Given the description of an element on the screen output the (x, y) to click on. 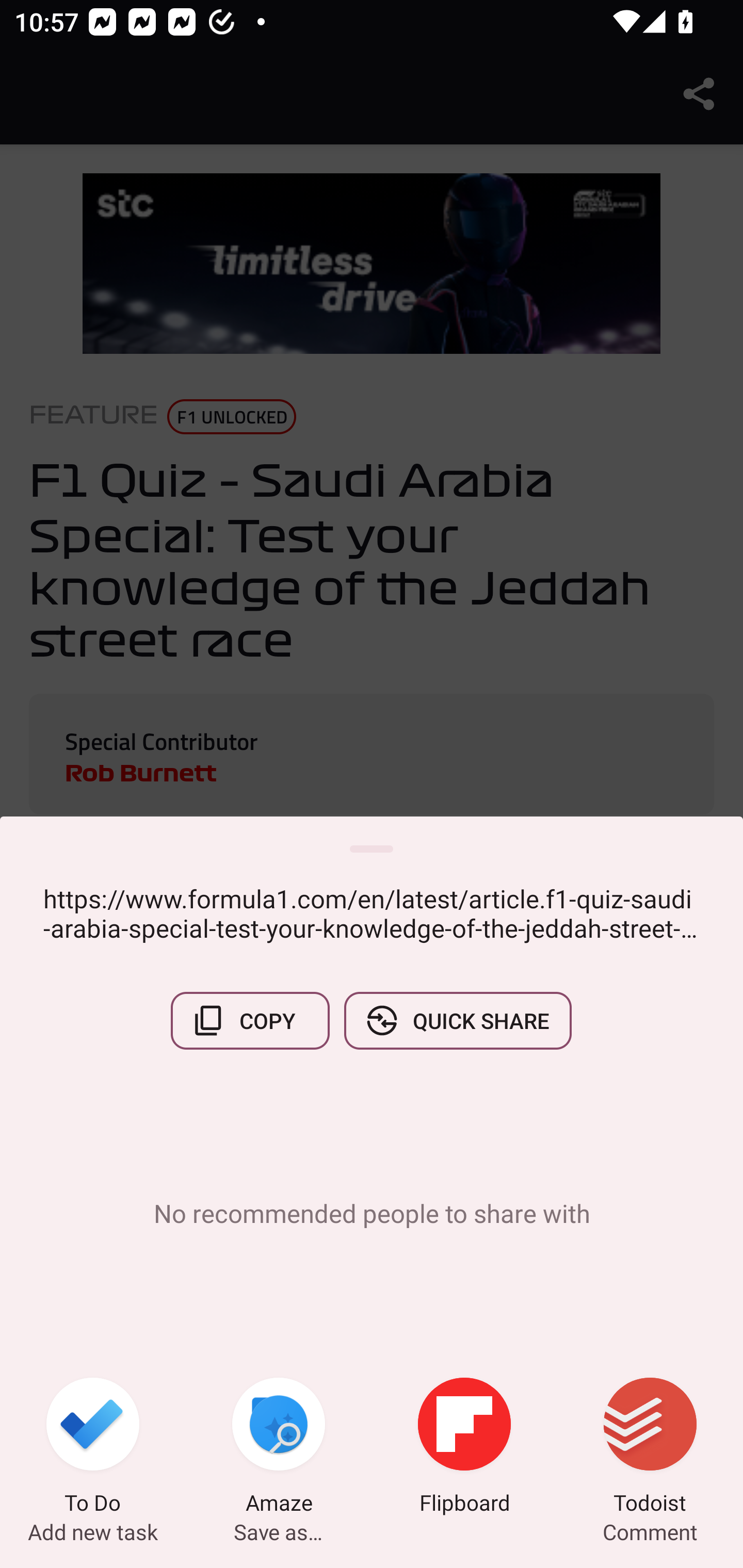
COPY (249, 1020)
QUICK SHARE (457, 1020)
To Do Add new task (92, 1448)
Amaze Save as… (278, 1448)
Flipboard (464, 1448)
Todoist Comment (650, 1448)
